Given the description of an element on the screen output the (x, y) to click on. 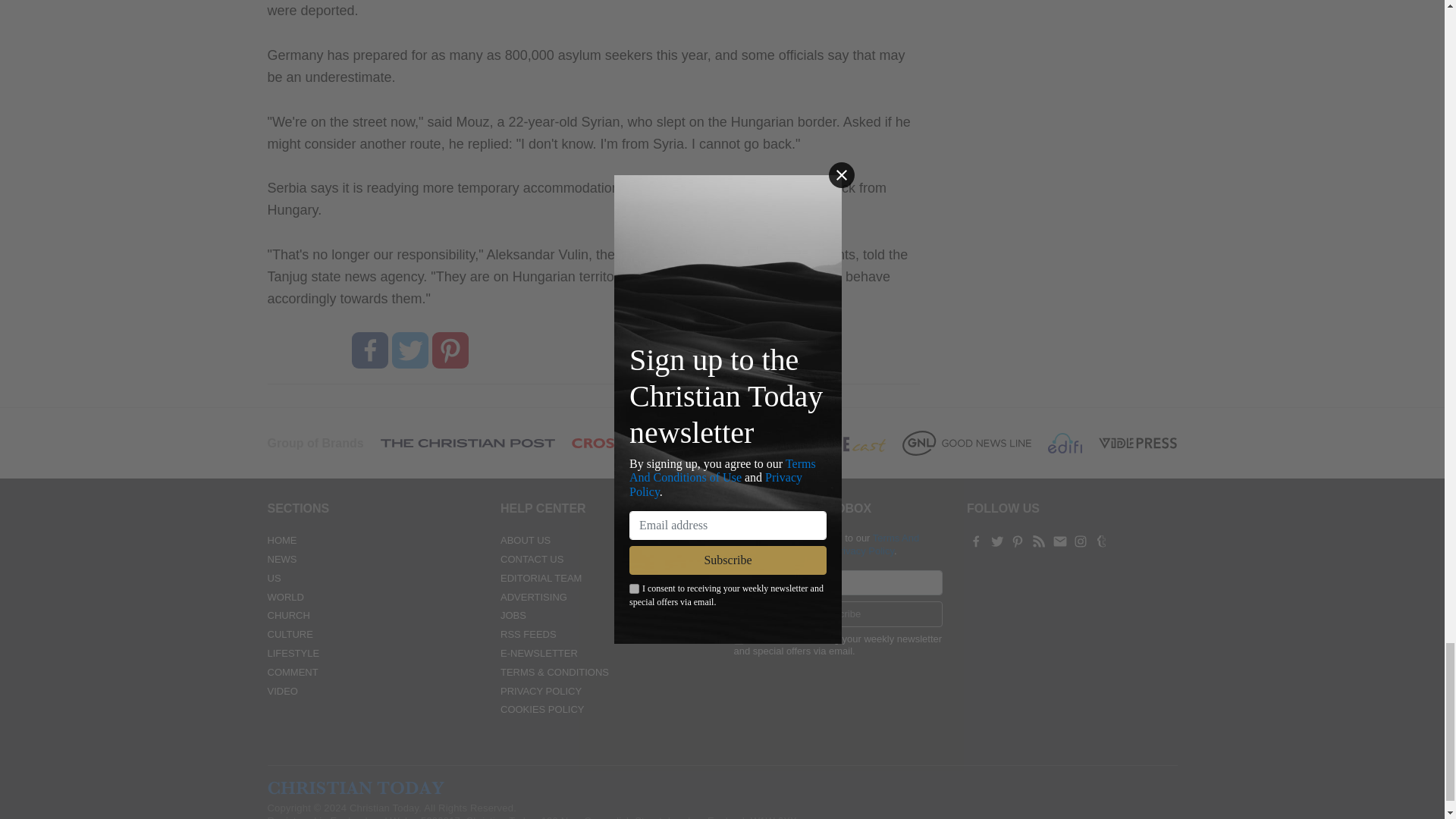
Subscribe (839, 614)
on (738, 639)
